Given the description of an element on the screen output the (x, y) to click on. 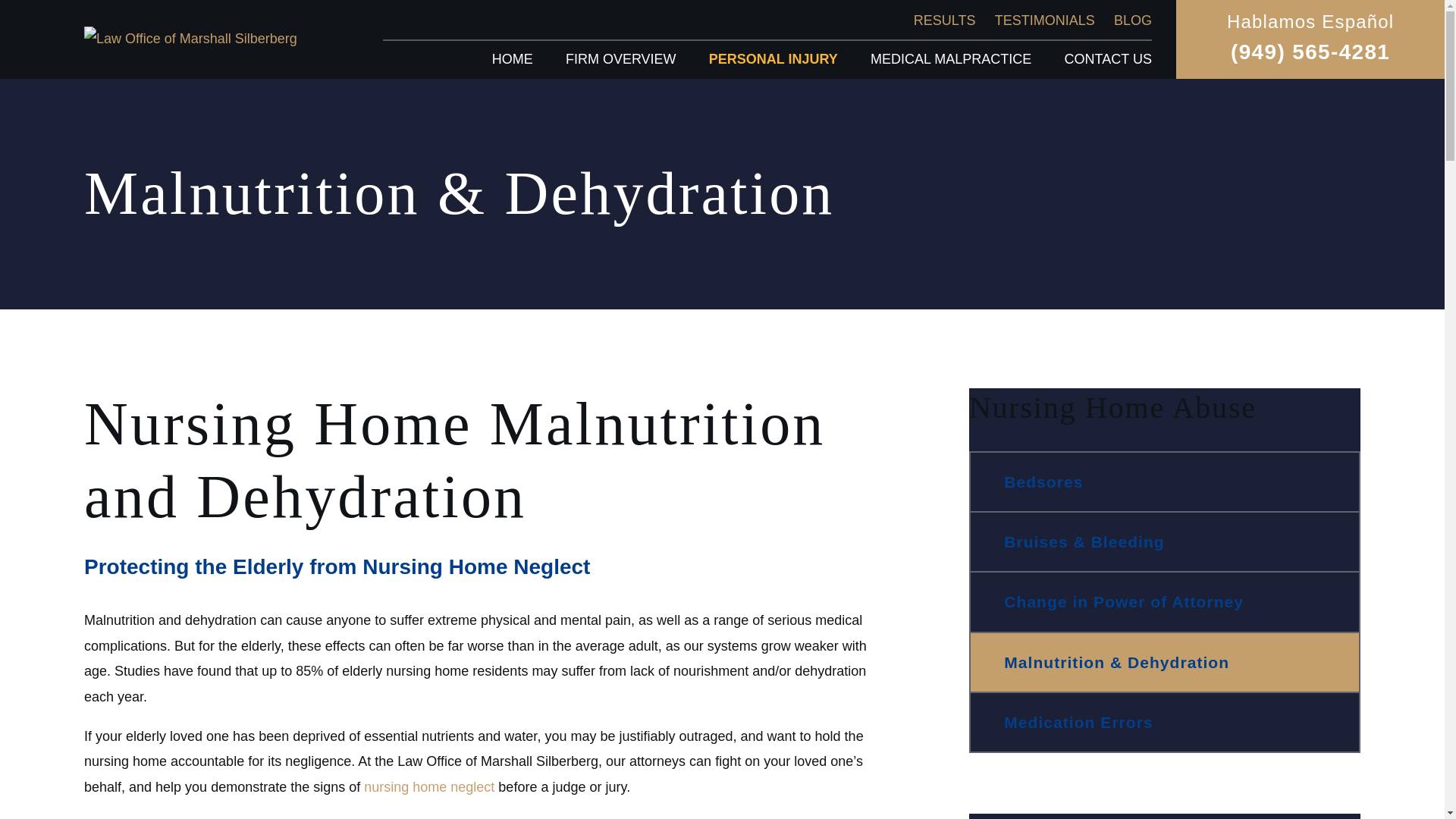
FIRM OVERVIEW (621, 59)
HOME (512, 59)
TESTIMONIALS (1044, 20)
BLOG (1132, 20)
RESULTS (944, 20)
Open the accessibility options menu (1423, 798)
PERSONAL INJURY (773, 59)
Law Office of Marshall Silberberg (190, 39)
